Given the description of an element on the screen output the (x, y) to click on. 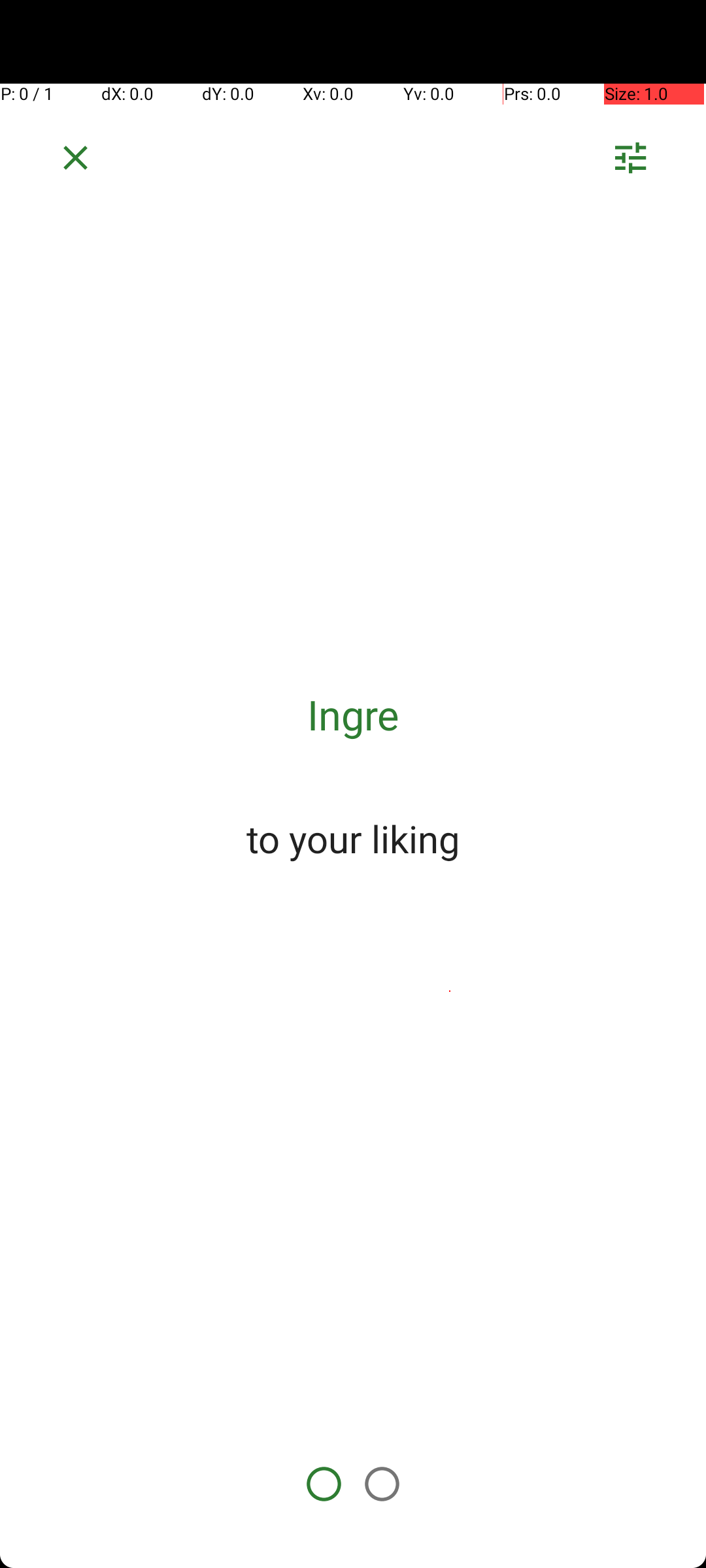
to your liking Element type: android.widget.TextView (352, 838)
